Given the description of an element on the screen output the (x, y) to click on. 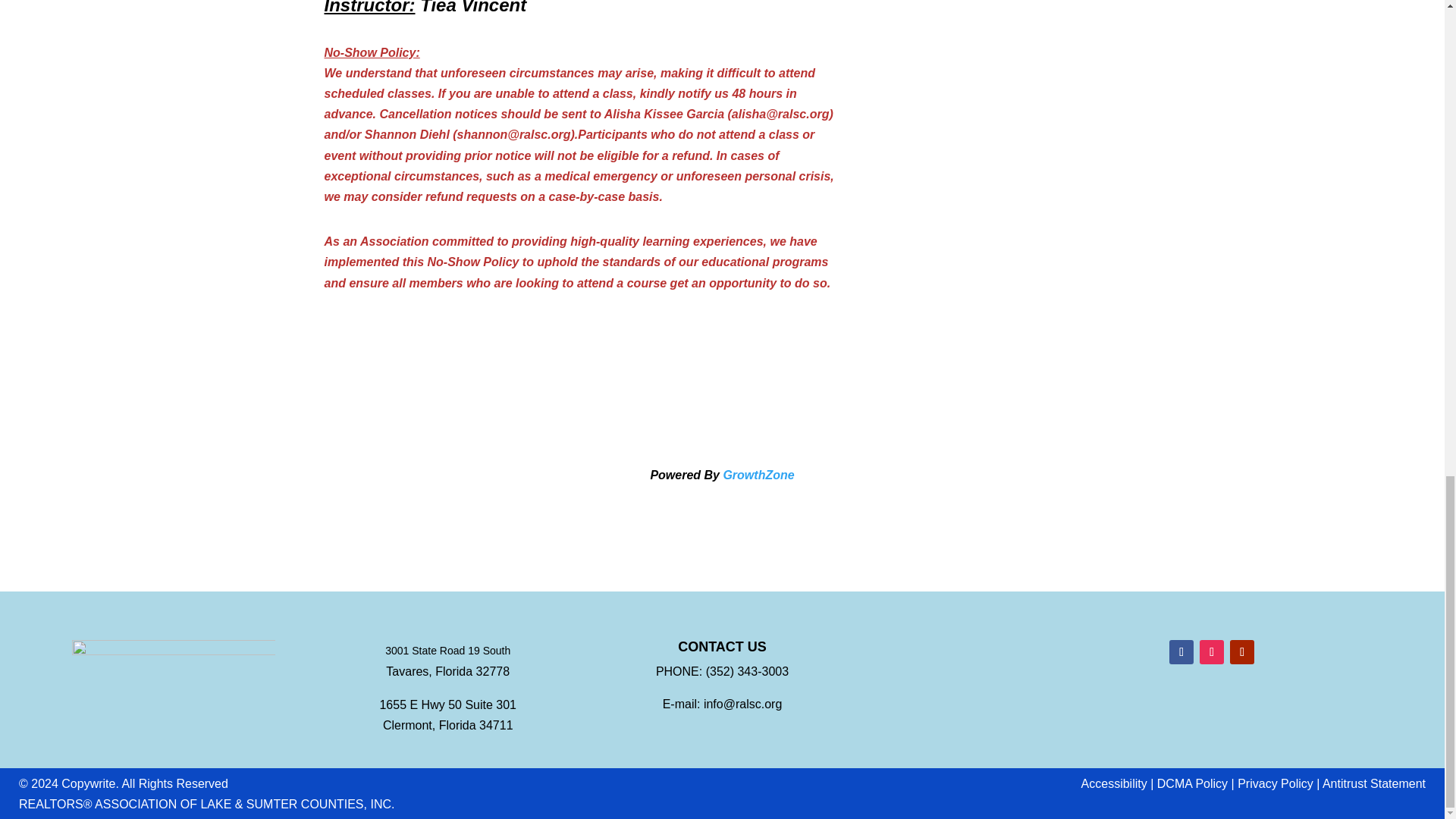
Follow on Youtube (1241, 651)
Follow on Instagram (1211, 651)
Follow on Facebook (1181, 651)
